Given the description of an element on the screen output the (x, y) to click on. 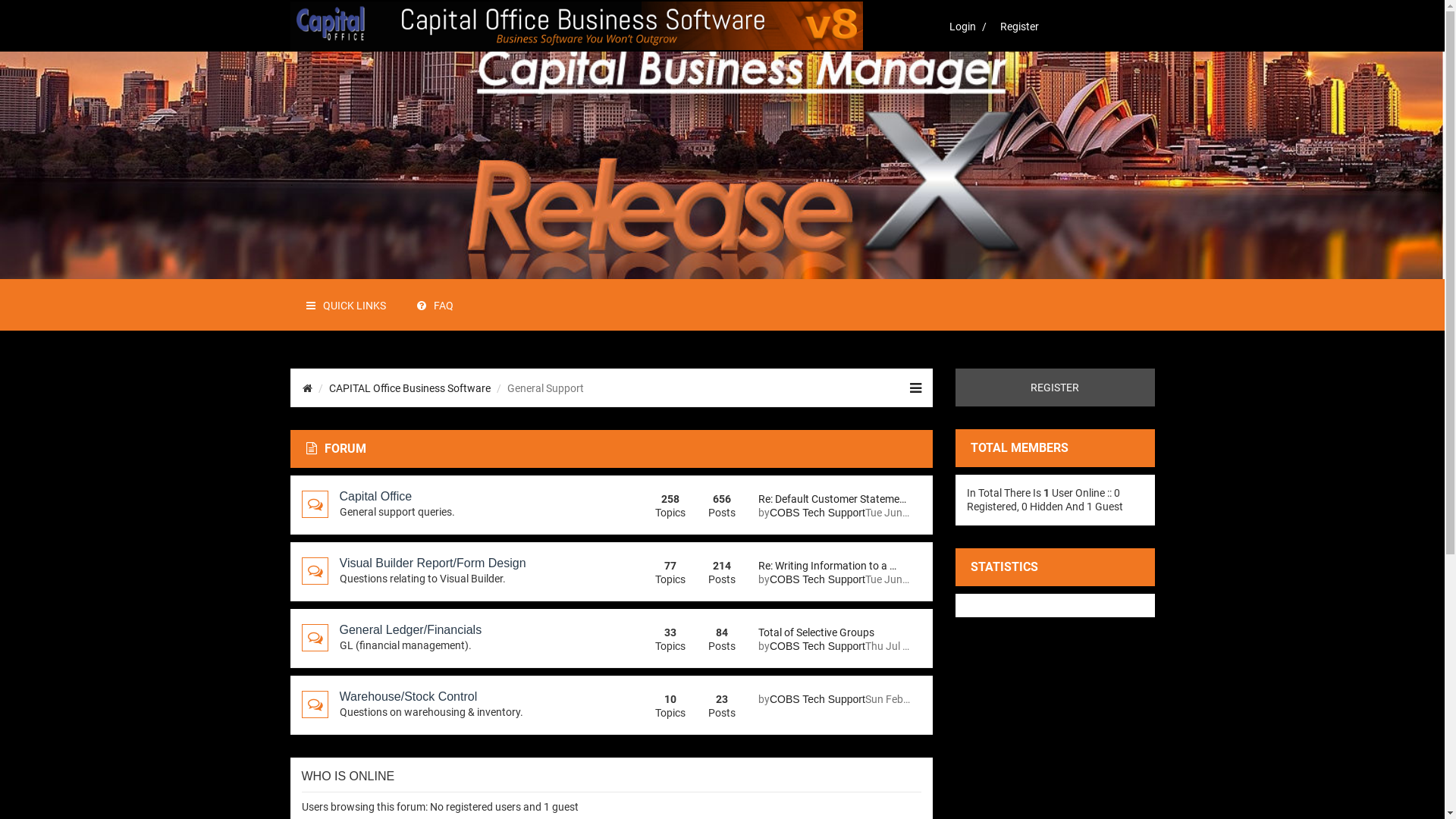
REGISTER Element type: text (1054, 387)
Warehouse/Stock Control Element type: text (408, 696)
COBS Tech Support Element type: text (817, 579)
QUICK LINKS Element type: text (344, 304)
Visual Builder Report/Form Design Element type: text (432, 563)
Total of Selective Groups Element type: text (834, 632)
COBS Tech Support Element type: text (817, 512)
Login Element type: text (958, 26)
General Ledger/Financials Element type: text (410, 629)
Capital Office Element type: text (375, 496)
Register Element type: text (1014, 26)
FAQ Element type: text (433, 304)
CAPITAL Office Business Software Element type: text (409, 388)
COBS Tech Support Element type: text (817, 646)
COBS Tech Support Element type: text (817, 699)
